Given the description of an element on the screen output the (x, y) to click on. 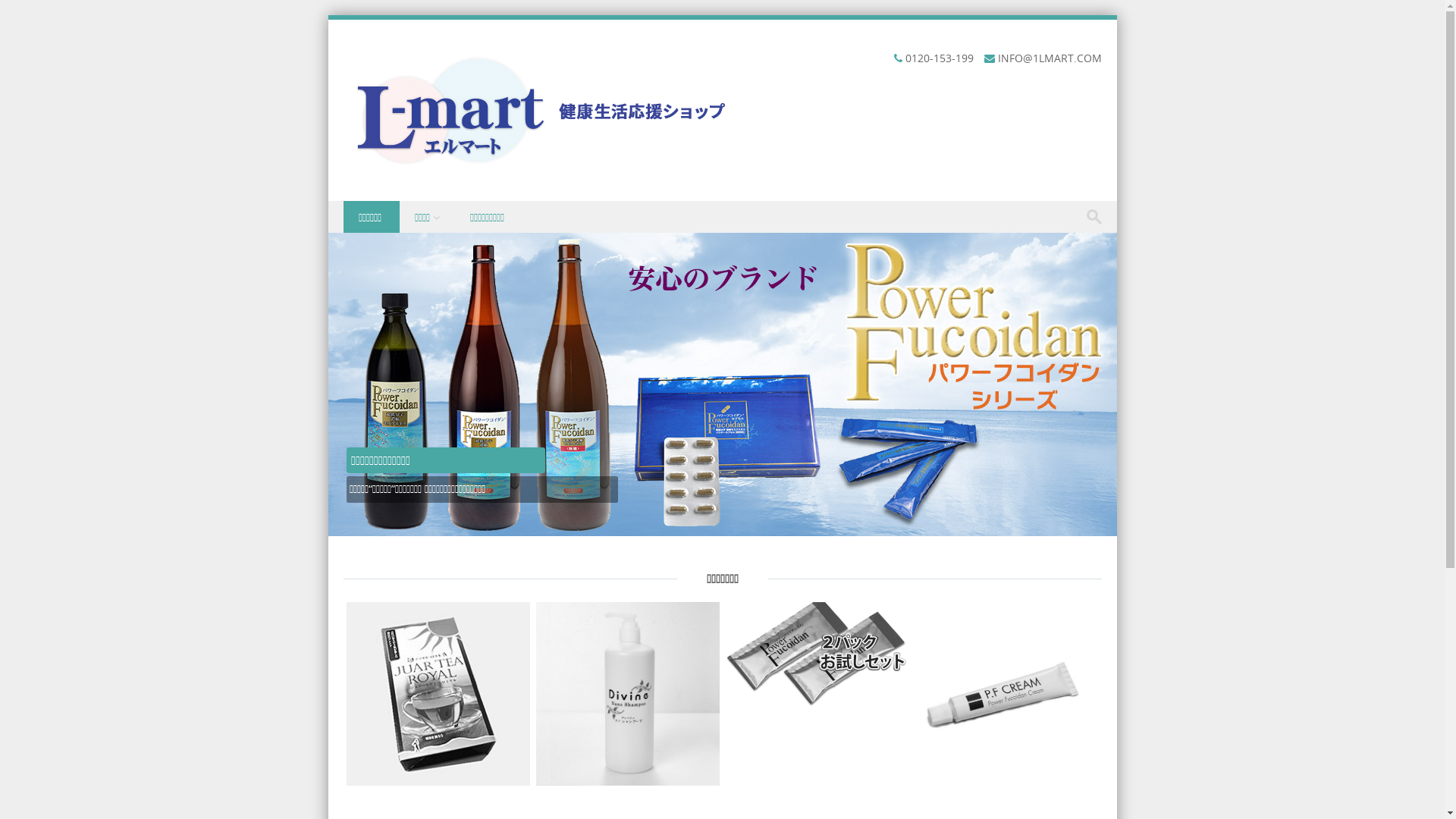
Search for: Element type: hover (1097, 216)
Search Element type: text (26, 14)
Menu Element type: text (355, 233)
Skip to content Element type: text (365, 210)
